Given the description of an element on the screen output the (x, y) to click on. 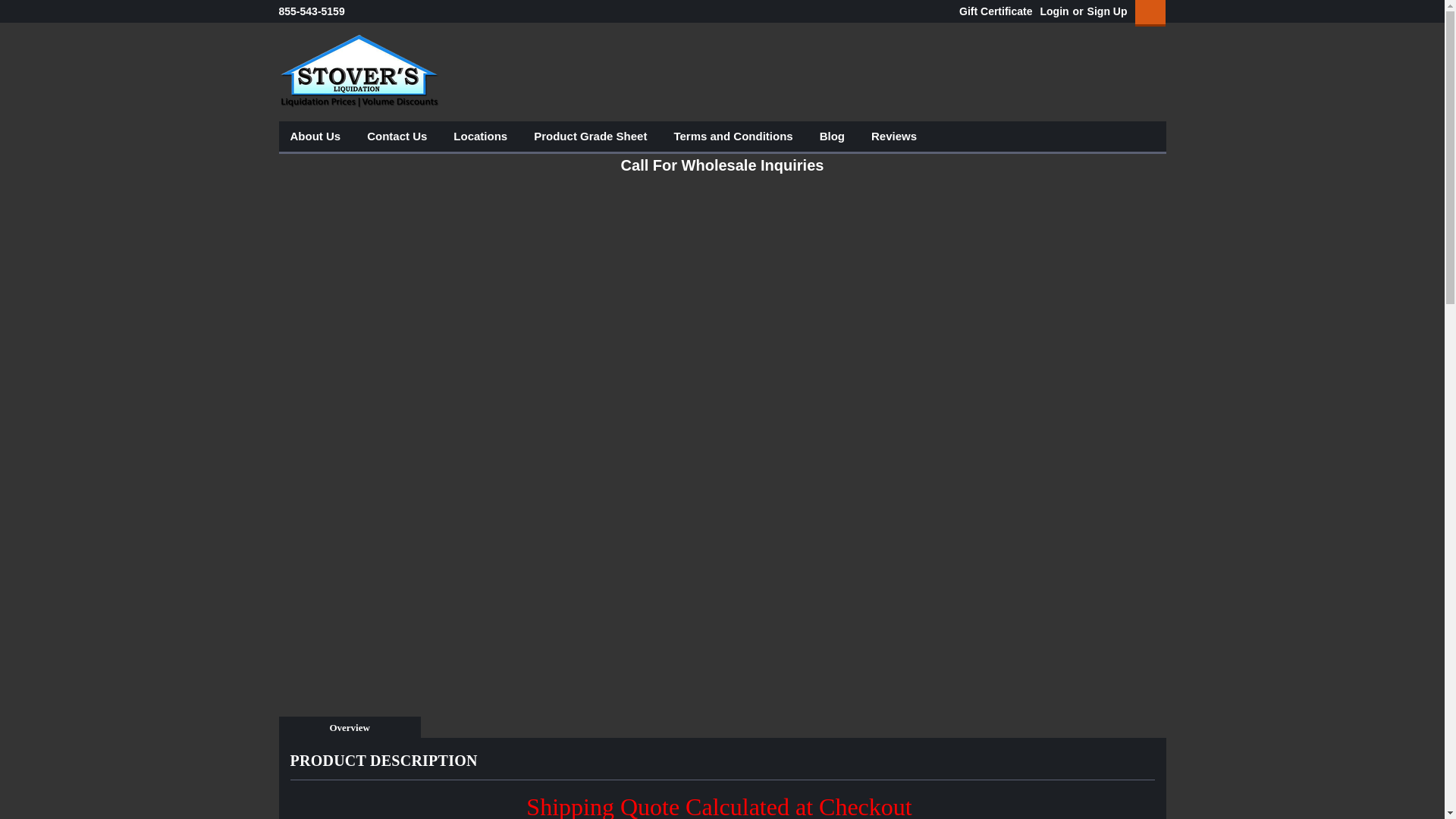
Login (1054, 11)
Gift Certificate (992, 11)
Stover's Liquidation (359, 71)
Sign Up (1104, 11)
